Given the description of an element on the screen output the (x, y) to click on. 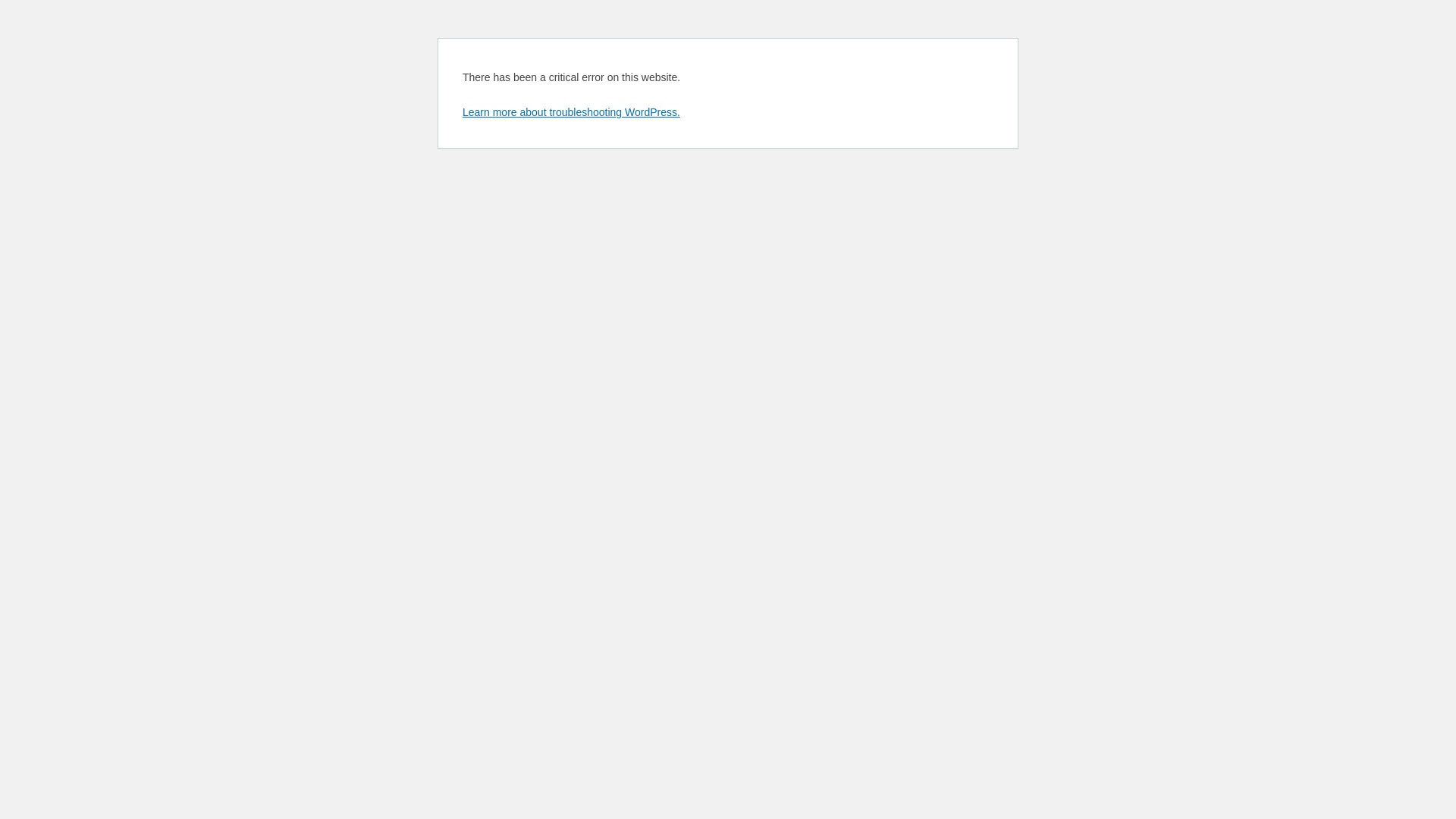
Learn more about troubleshooting WordPress. Element type: text (571, 112)
